Given the description of an element on the screen output the (x, y) to click on. 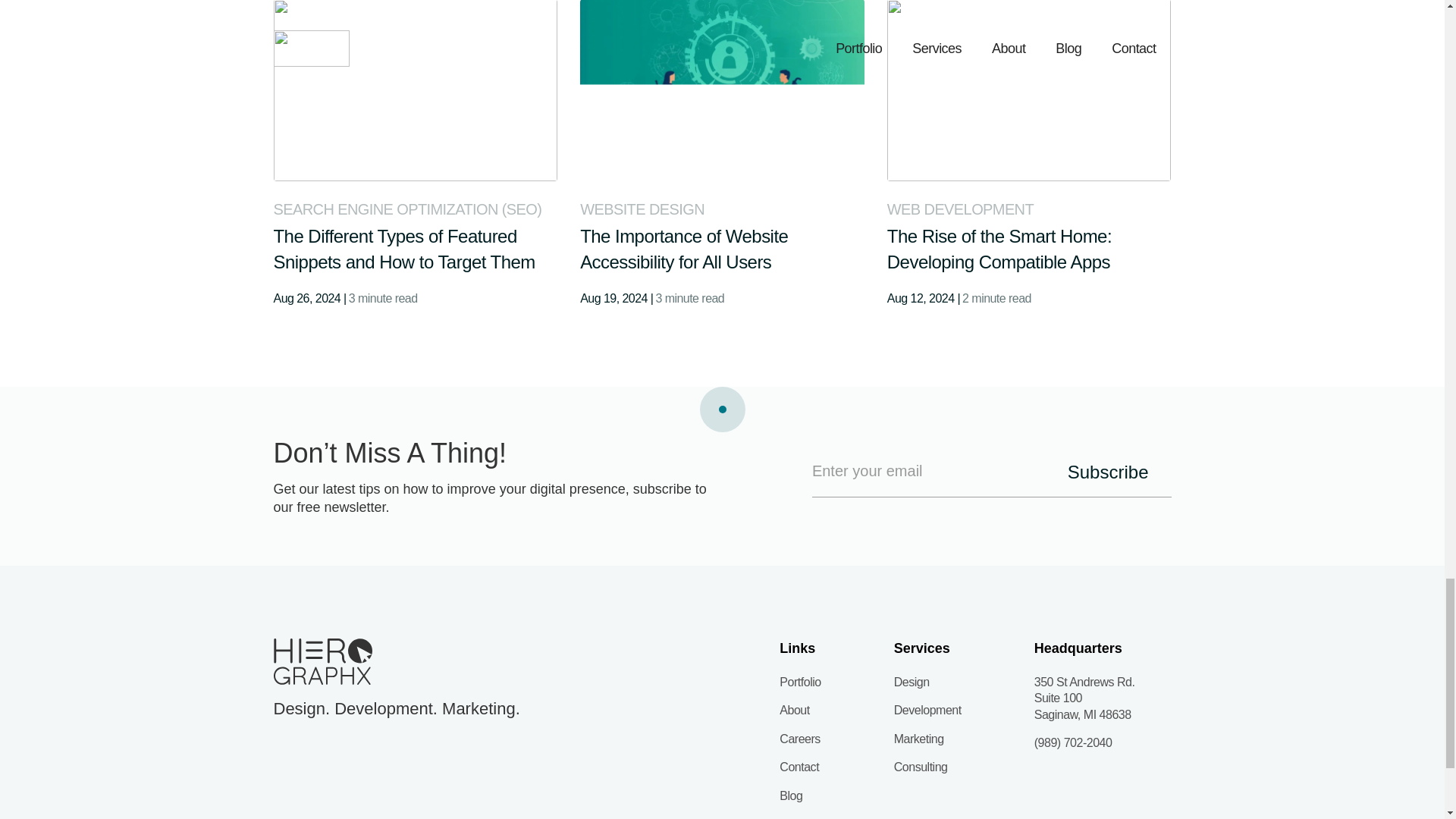
Subscribe (1107, 472)
Blog (799, 795)
Marketing (926, 739)
About (799, 710)
Careers (799, 739)
Subscribe (1107, 472)
Development (926, 710)
FAQs (799, 817)
Portfolio (799, 682)
Consulting (926, 767)
